Given the description of an element on the screen output the (x, y) to click on. 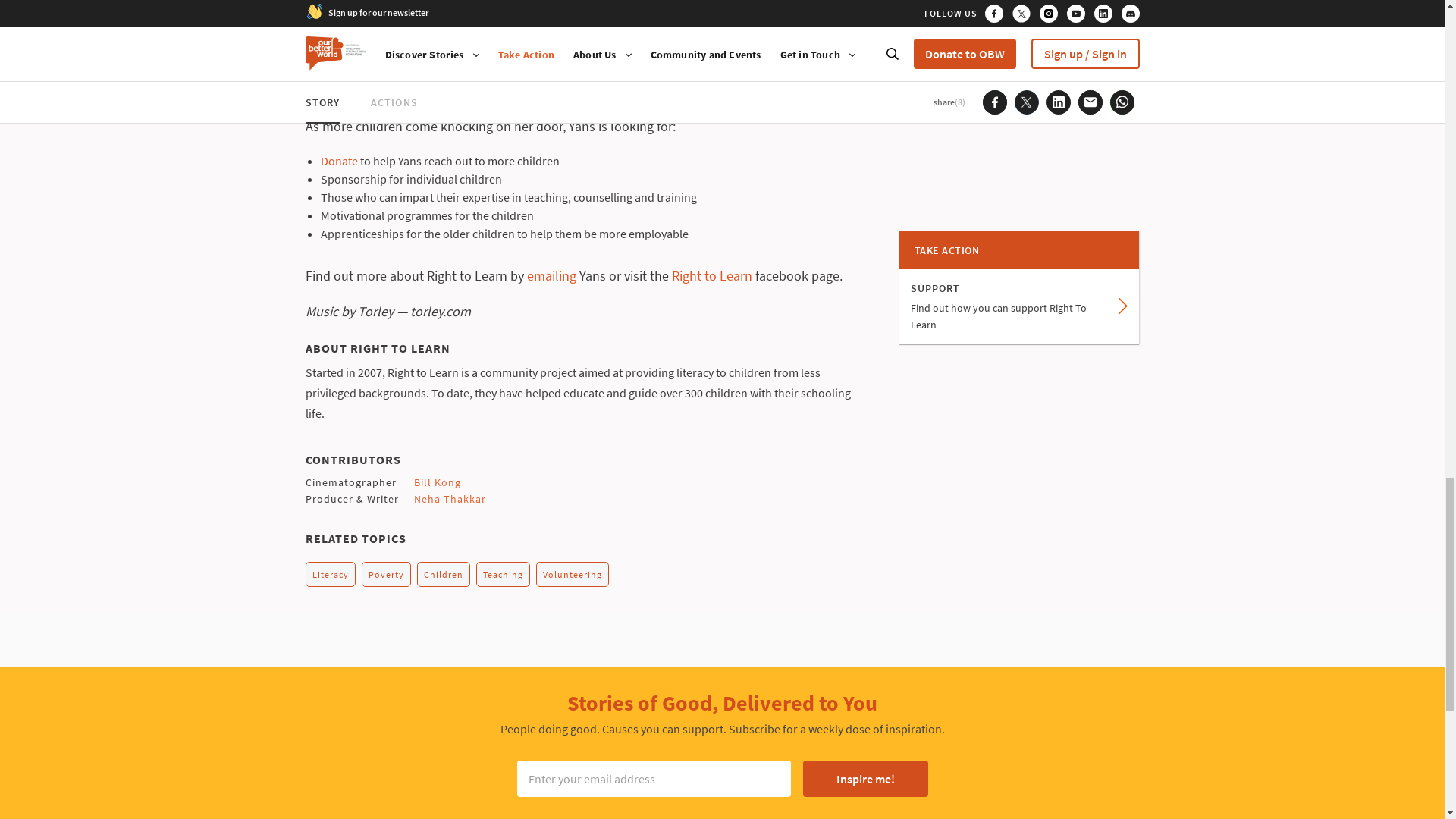
Inspire me! (864, 778)
